Given the description of an element on the screen output the (x, y) to click on. 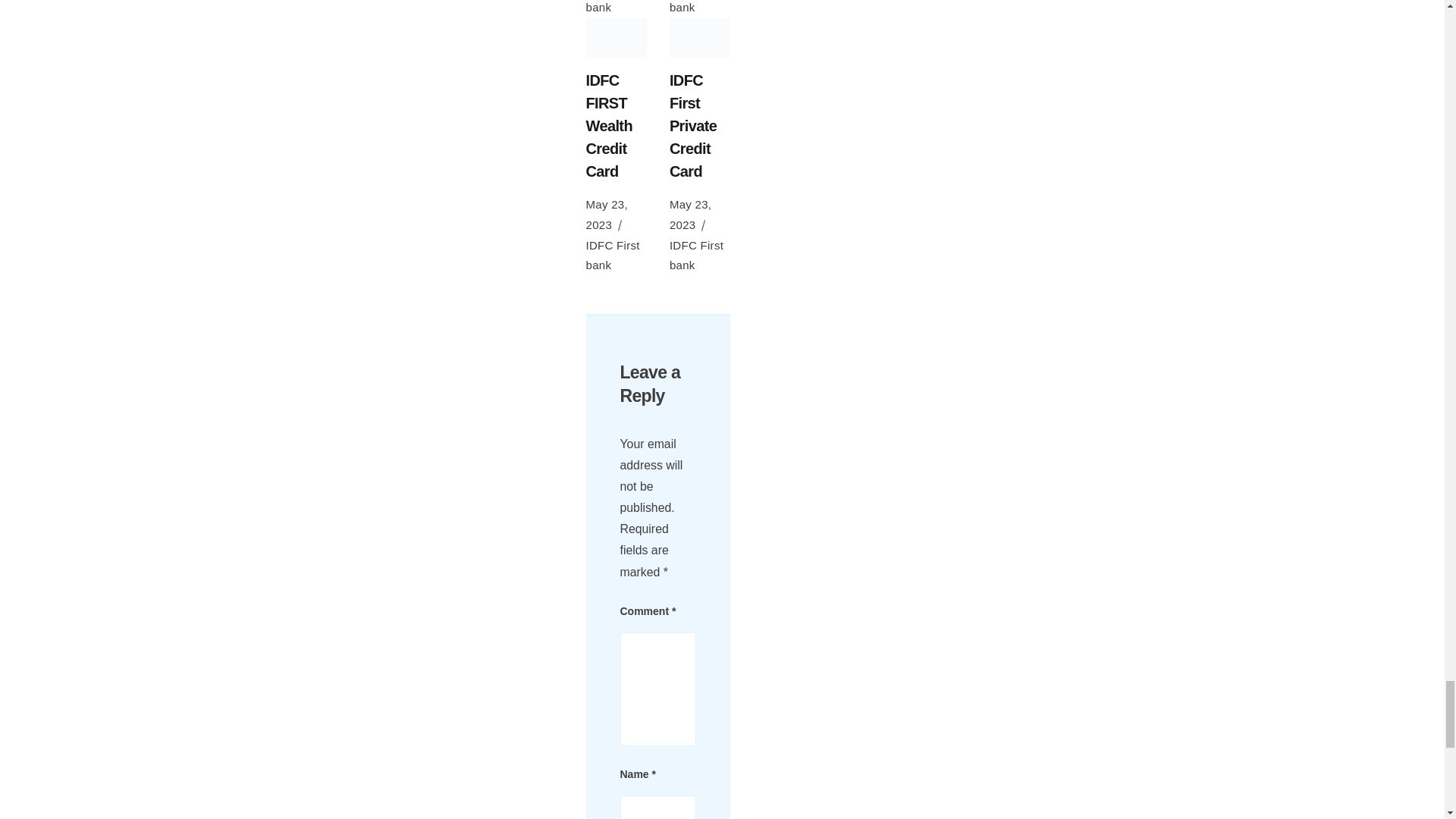
IDFC FIRST Wealth Credit Card 7 (615, 38)
IDFC First Private Credit Card 8 (699, 38)
